Given the description of an element on the screen output the (x, y) to click on. 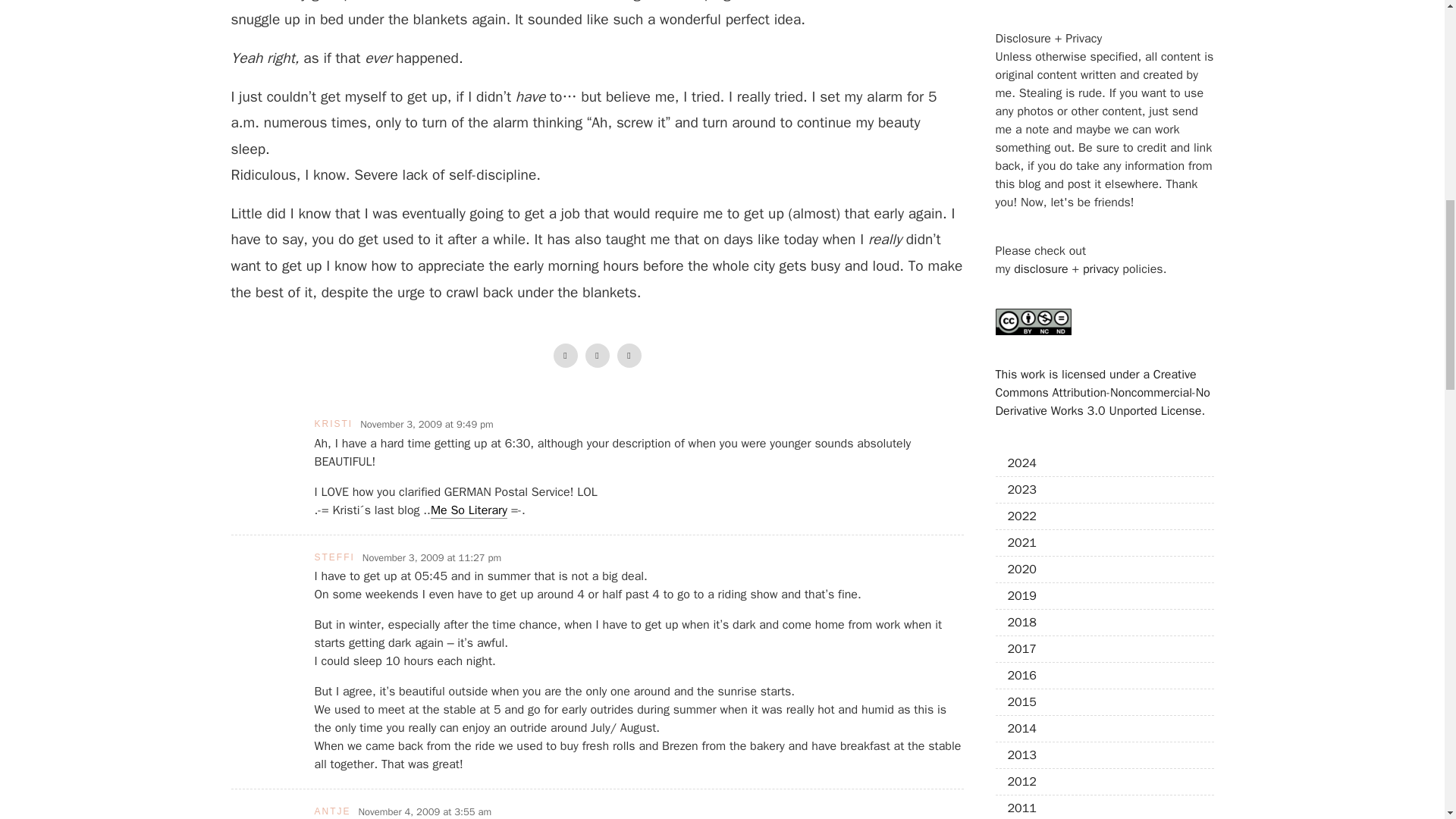
ANTJE (332, 810)
November 3, 2009 at 9:49 pm (426, 424)
KRISTI (333, 423)
Me So Literary (468, 510)
November 4, 2009 at 3:55 am (425, 811)
November 3, 2009 at 11:27 pm (431, 557)
STEFFI (333, 557)
